Given the description of an element on the screen output the (x, y) to click on. 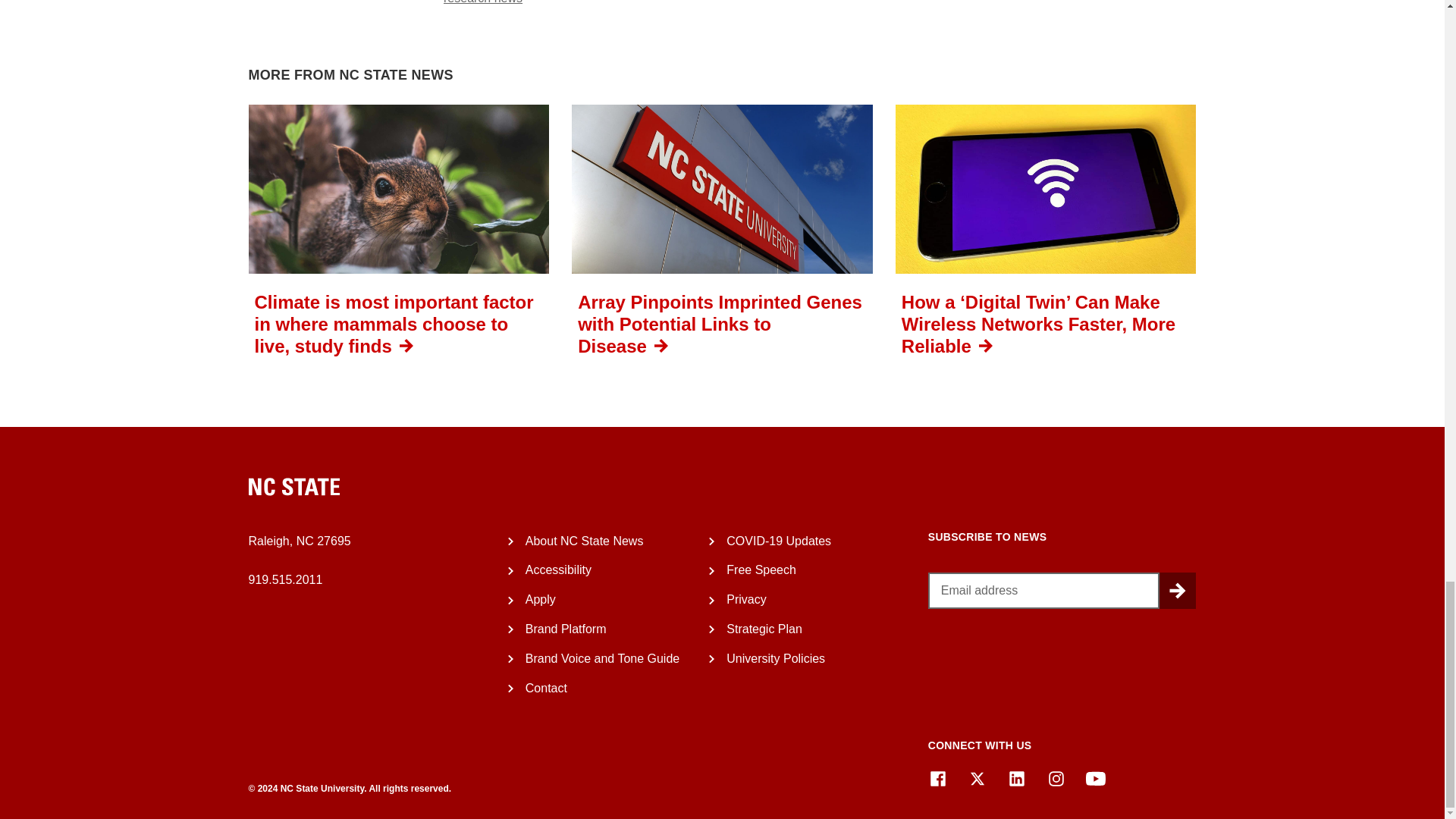
YouTube (1095, 778)
X (977, 778)
Instagram (1055, 778)
Facebook (937, 778)
LinkedIn (1016, 778)
